Given the description of an element on the screen output the (x, y) to click on. 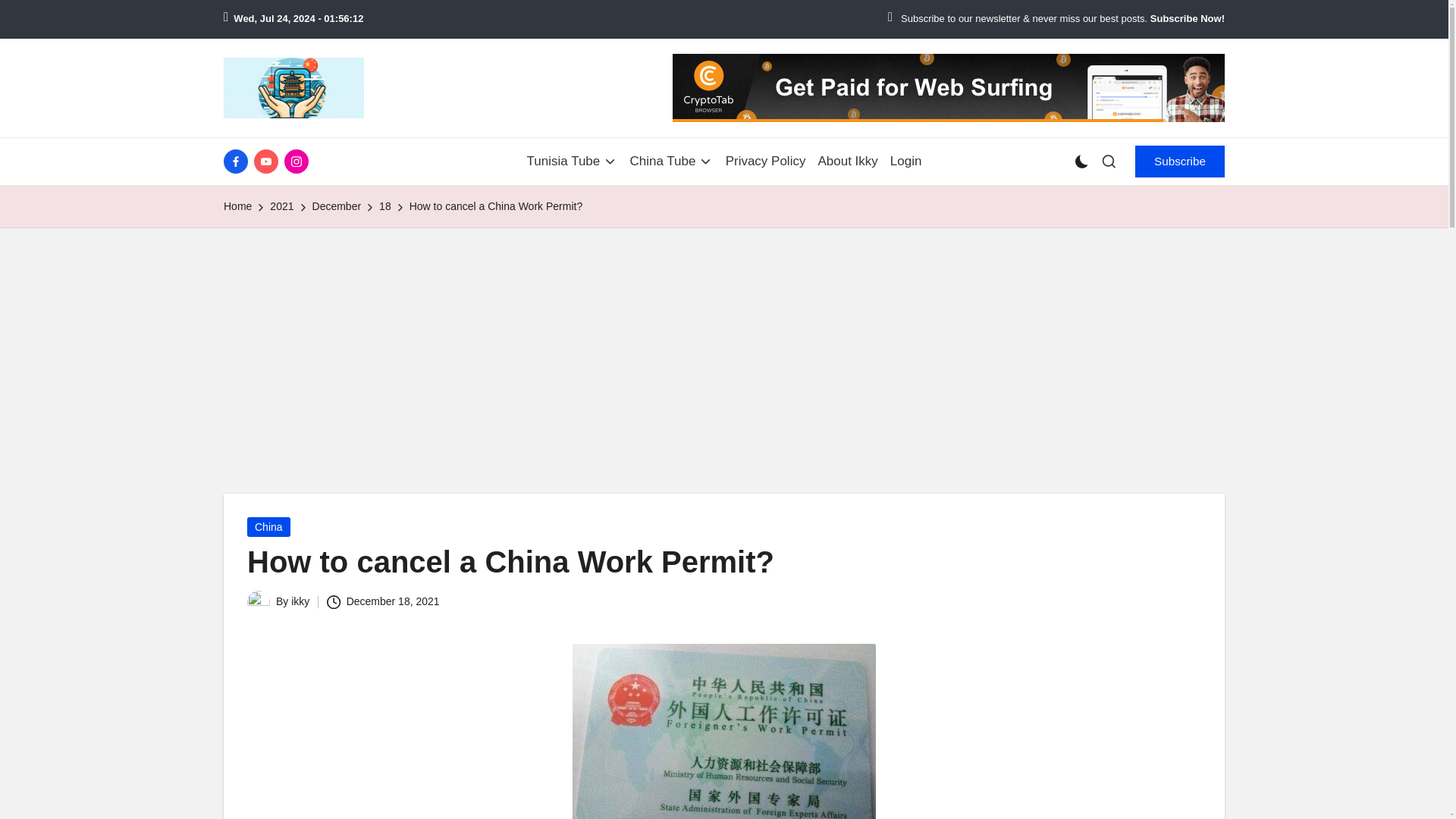
FaceBook (238, 161)
Youtube (268, 161)
Subscribe Now! (1187, 18)
Instagram (298, 161)
Tunisia Tube (572, 160)
View all posts by ikky (299, 601)
